Given the description of an element on the screen output the (x, y) to click on. 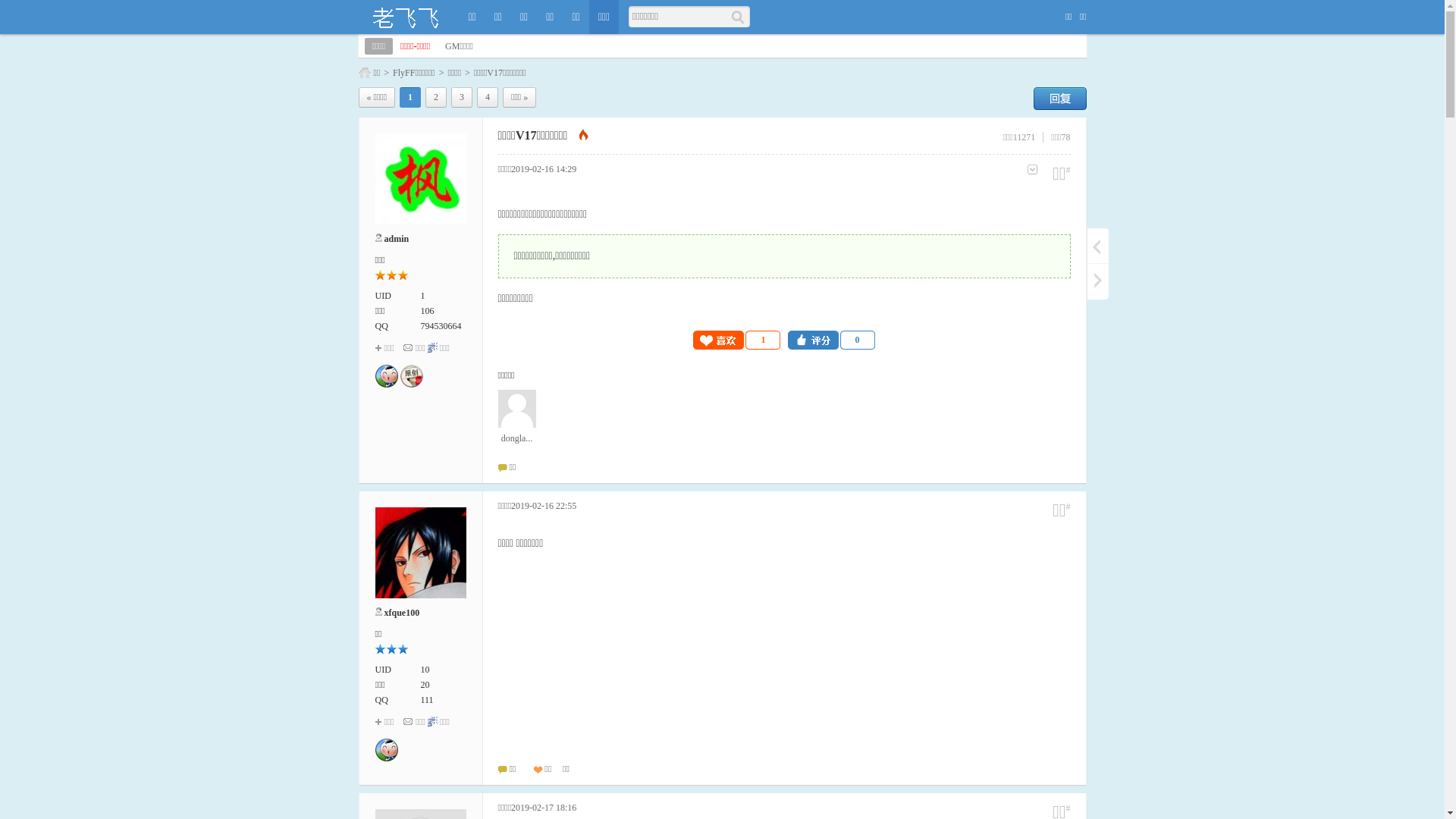
dongla... Element type: text (516, 417)
20 Element type: text (424, 684)
2 Element type: text (435, 97)
4 Element type: text (487, 97)
0 Element type: text (831, 339)
3 Element type: text (461, 97)
xfque100 Element type: text (401, 612)
106 Element type: text (426, 310)
1 Element type: text (737, 339)
admin Element type: text (395, 238)
